Given the description of an element on the screen output the (x, y) to click on. 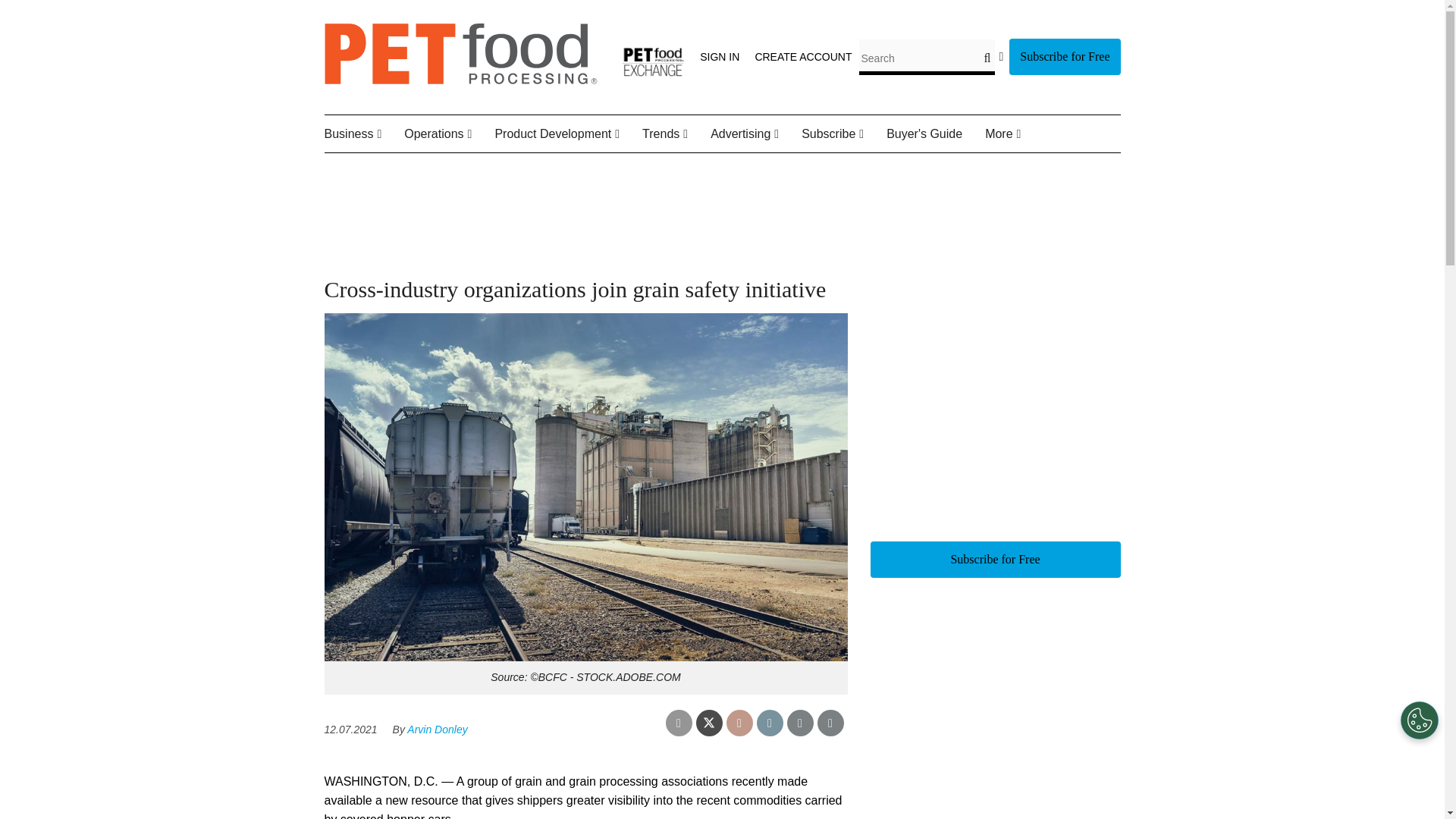
Petfood Processing (460, 80)
Cookies Settings (1419, 720)
